Given the description of an element on the screen output the (x, y) to click on. 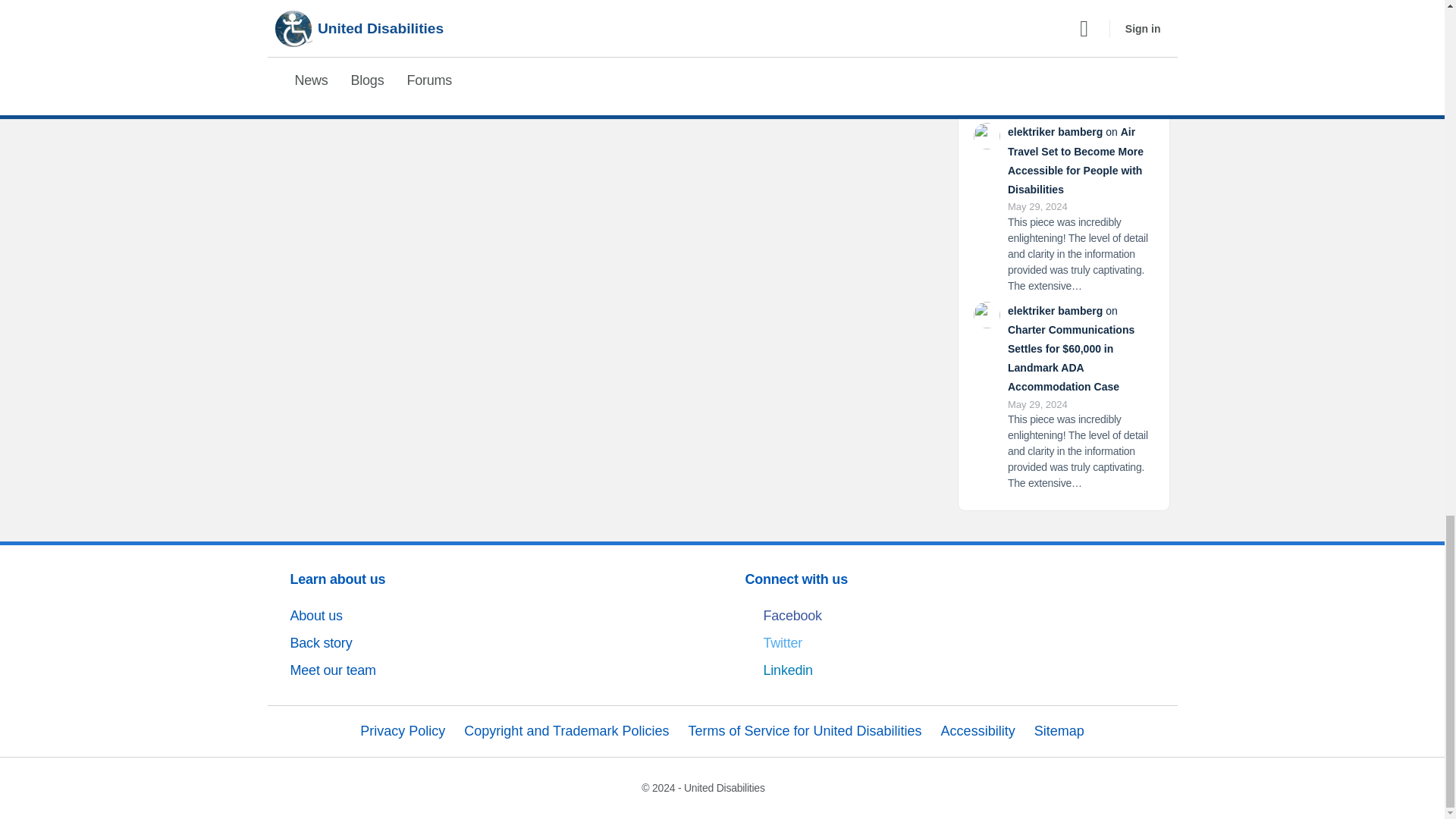
Facebook (949, 616)
Twitter (949, 643)
Linkedin (949, 670)
